Given the description of an element on the screen output the (x, y) to click on. 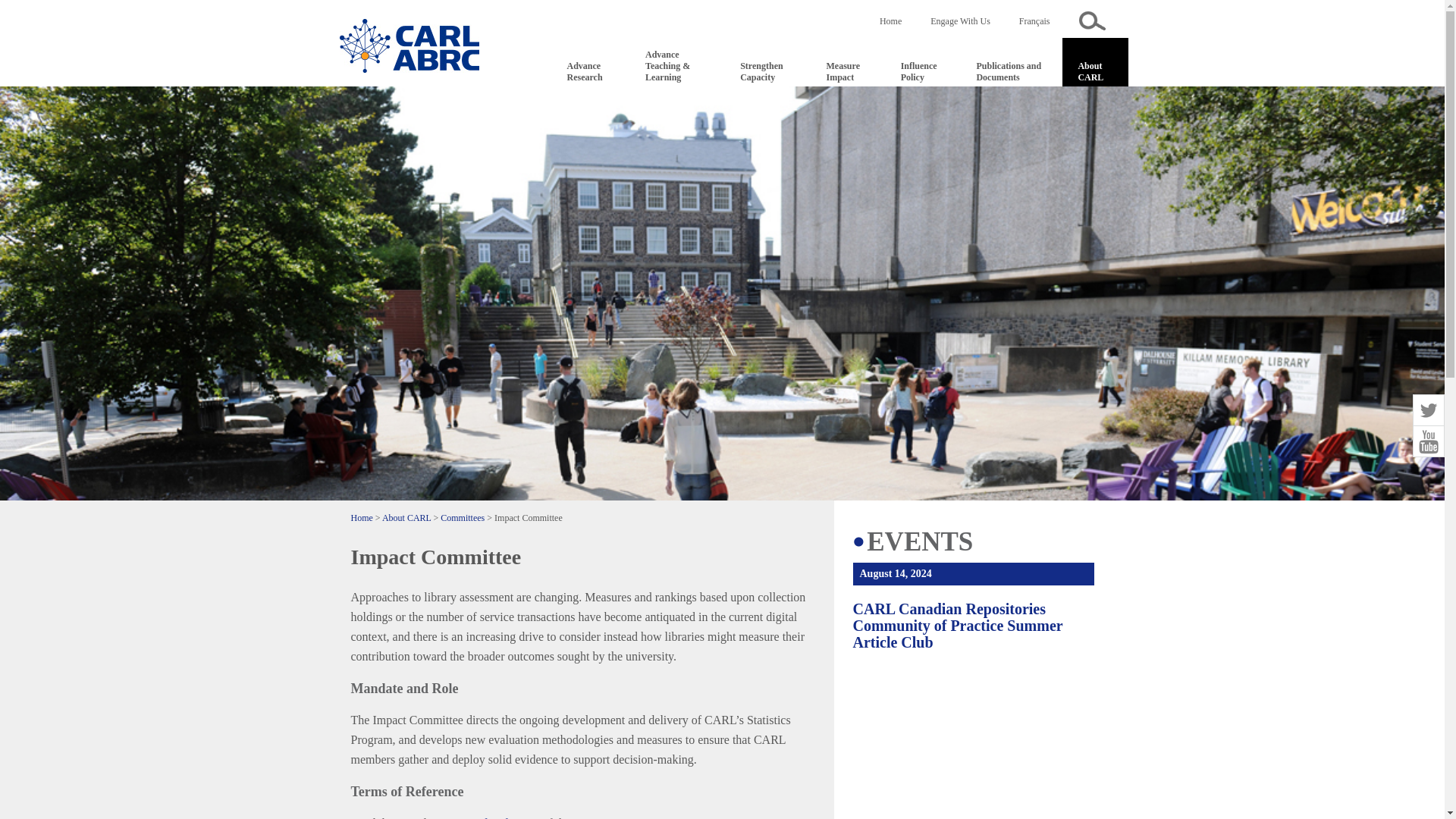
Go to Committees. (462, 517)
Engage With Us (960, 20)
Go to Canadian Association of Research Libraries. (361, 517)
Search (1091, 20)
Advance Research (590, 72)
Home (890, 20)
Canadian Association of Research Libraries (409, 45)
Go to About CARL. (405, 517)
